Given the description of an element on the screen output the (x, y) to click on. 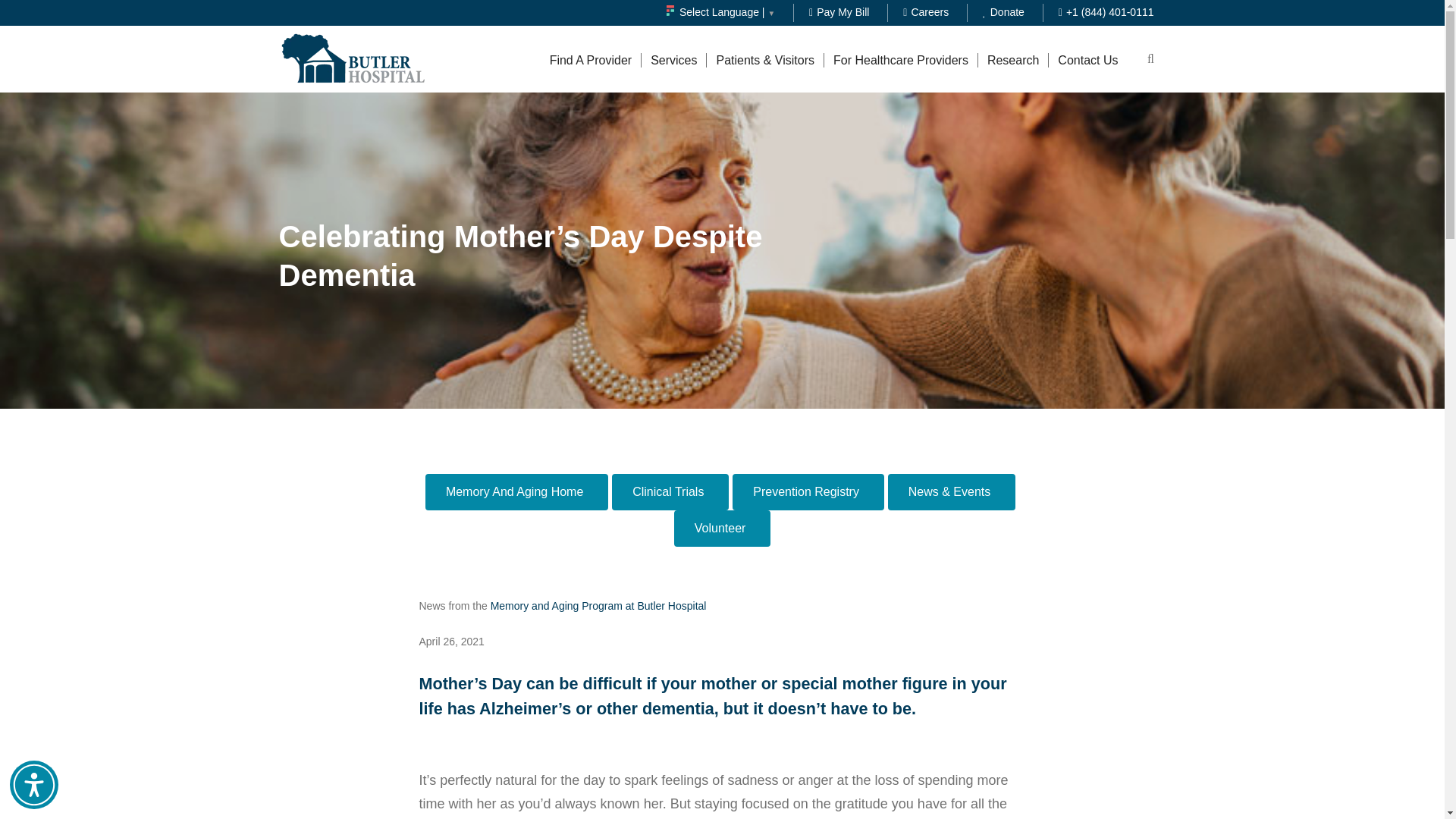
Careers (925, 11)
Memory and Aging Home (516, 491)
Services (673, 60)
Prevention Registry (807, 491)
Pay My Bill (839, 11)
Volunteer (722, 527)
Donate (1003, 11)
For Healthcare Providers (900, 60)
Find A Provider (591, 60)
Research (1012, 60)
Contact Us (1087, 60)
Accessibility Menu (34, 784)
Clinical Trials (670, 491)
